Given the description of an element on the screen output the (x, y) to click on. 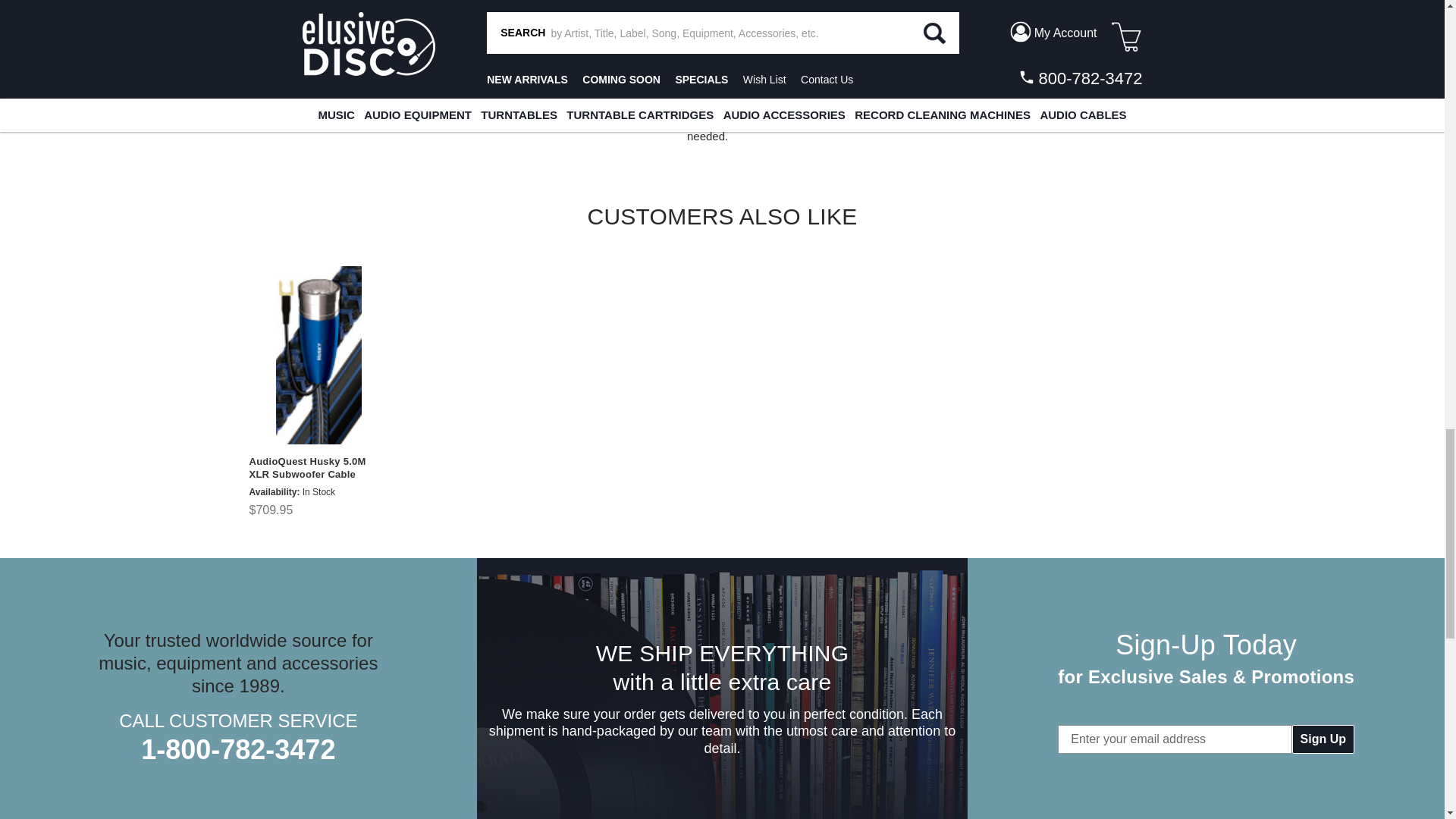
Sign Up (1323, 738)
